Given the description of an element on the screen output the (x, y) to click on. 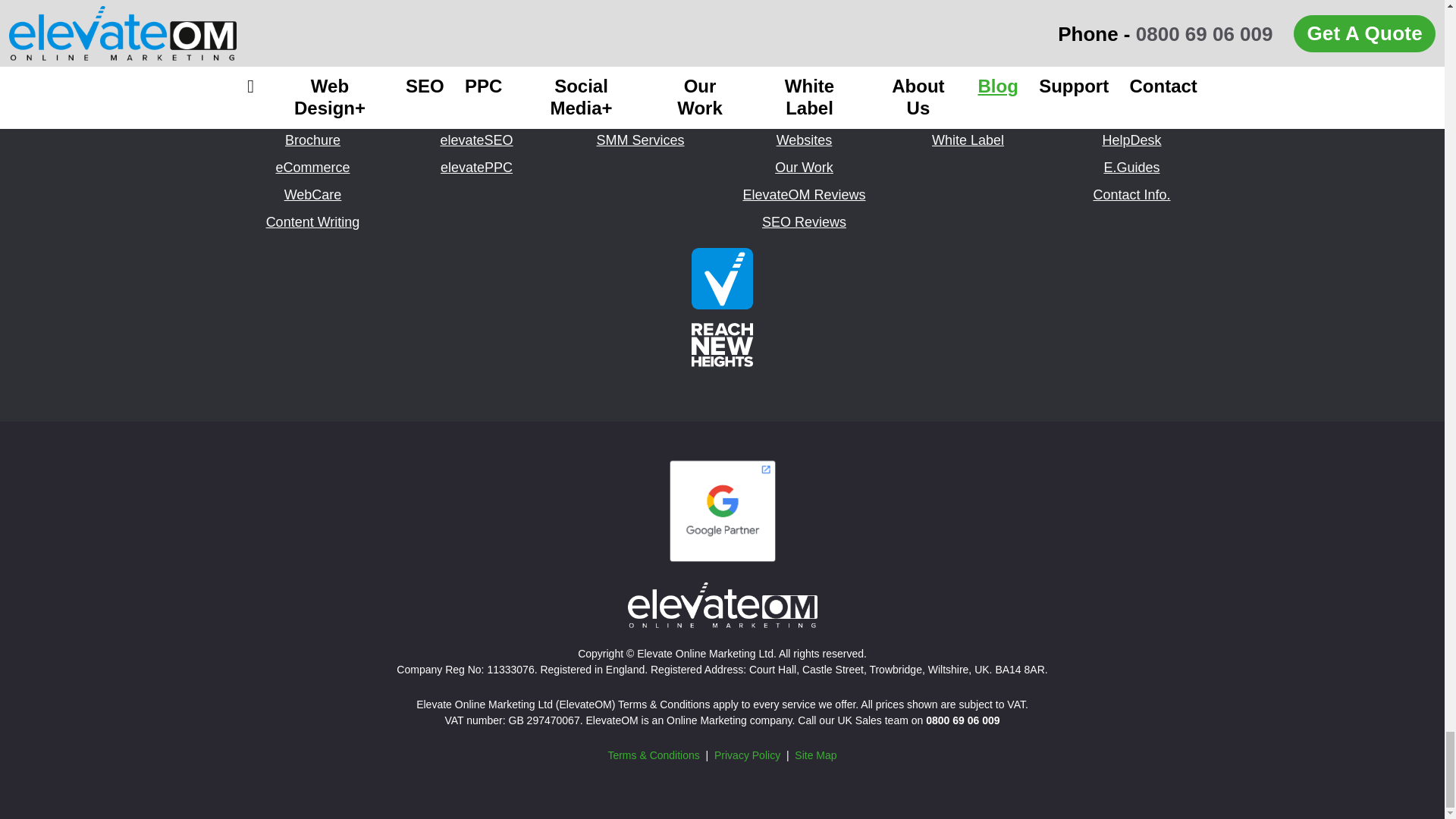
Linkedin (672, 34)
Facebook (721, 34)
Instagram (771, 34)
